Given the description of an element on the screen output the (x, y) to click on. 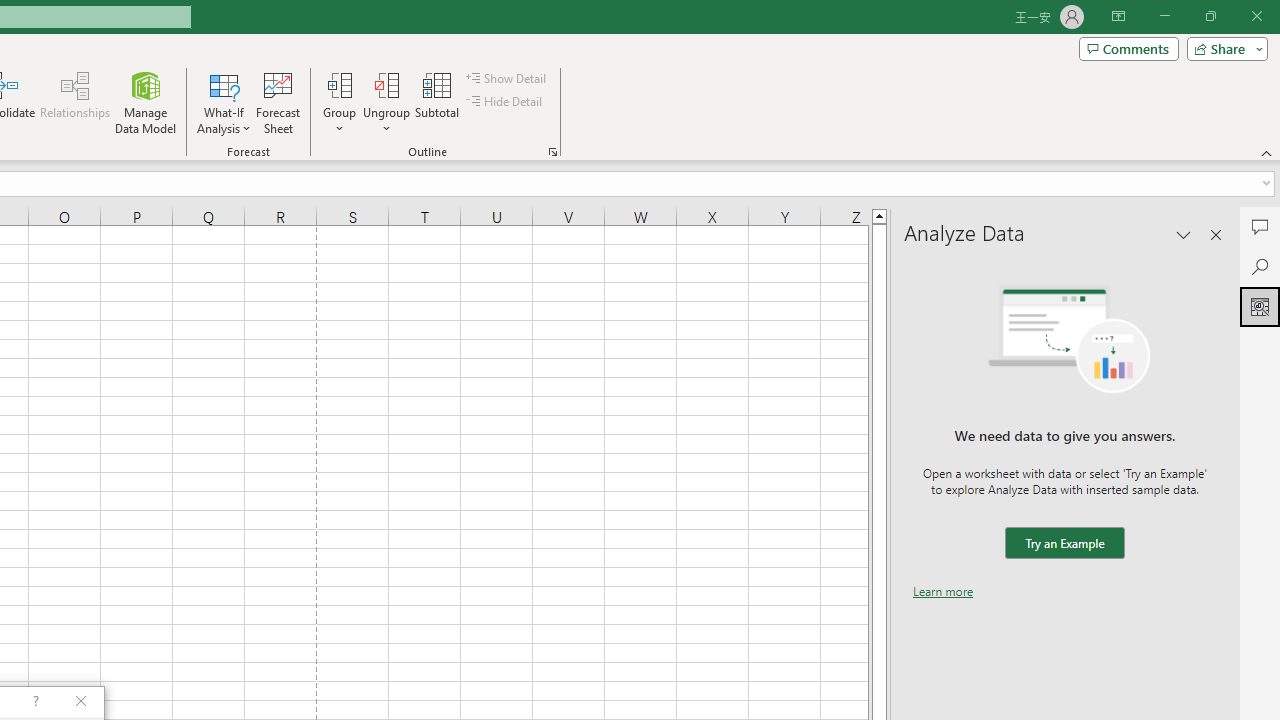
Comments (1260, 226)
Analyze Data (1260, 306)
We need data to give you answers. Try an Example (1064, 543)
Ungroup... (386, 102)
Group... (339, 84)
Search (1260, 266)
Close (1256, 16)
Manage Data Model (145, 102)
Comments (1128, 48)
Group and Outline Settings (552, 151)
Group... (339, 102)
Relationships (75, 102)
What-If Analysis (223, 102)
Ribbon Display Options (1118, 16)
